Given the description of an element on the screen output the (x, y) to click on. 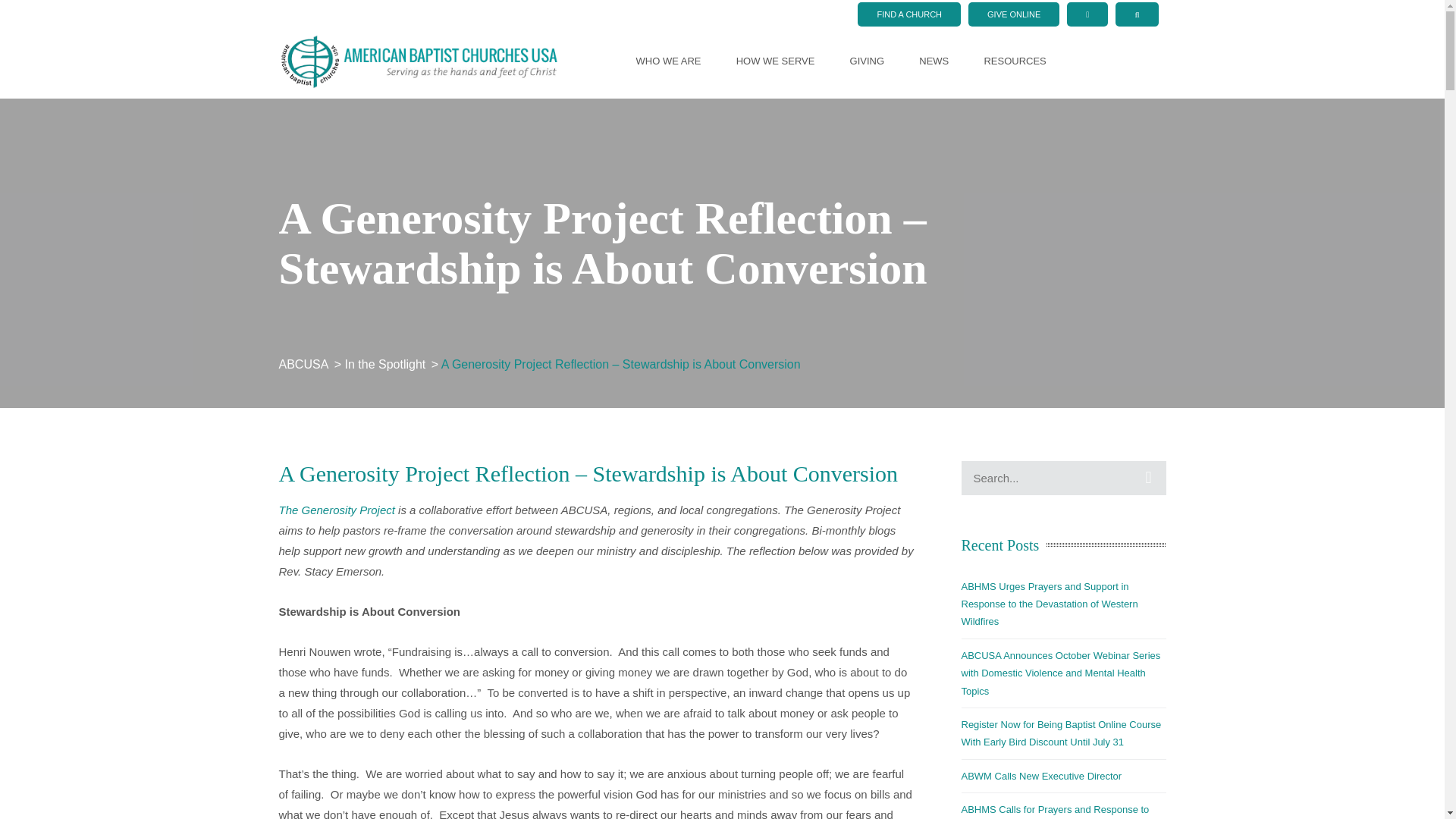
Go to ABCUSA. (305, 364)
HOW WE SERVE (775, 60)
FIND A CHURCH (908, 14)
Go to the In the Spotlight Category archives. (386, 364)
NEWS (933, 60)
ABCUSA - American Baptist Churches USA (419, 60)
GIVING (867, 60)
GIVE ONLINE (1013, 14)
WHO WE ARE (668, 60)
